Given the description of an element on the screen output the (x, y) to click on. 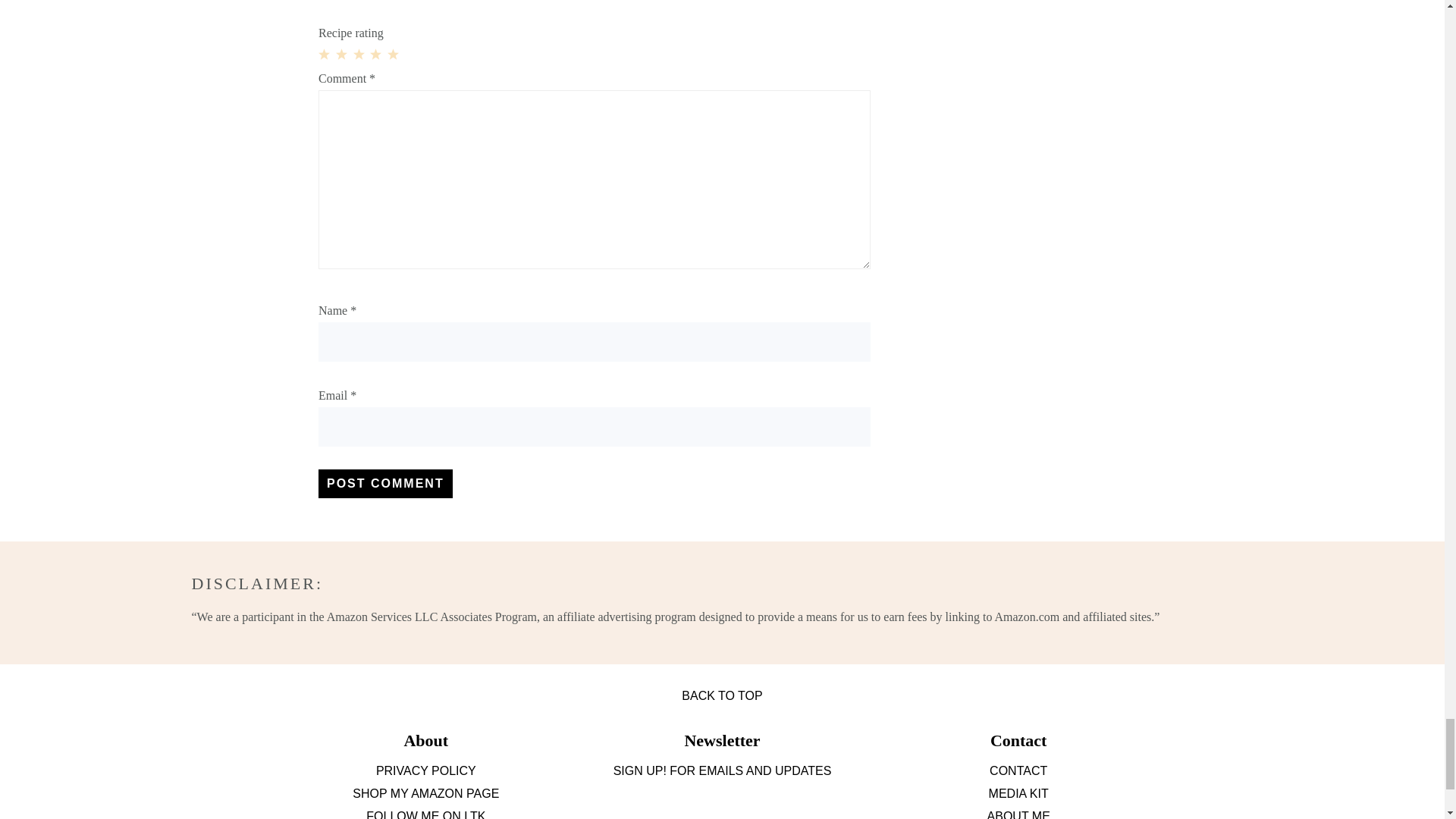
Post Comment (385, 483)
